Given the description of an element on the screen output the (x, y) to click on. 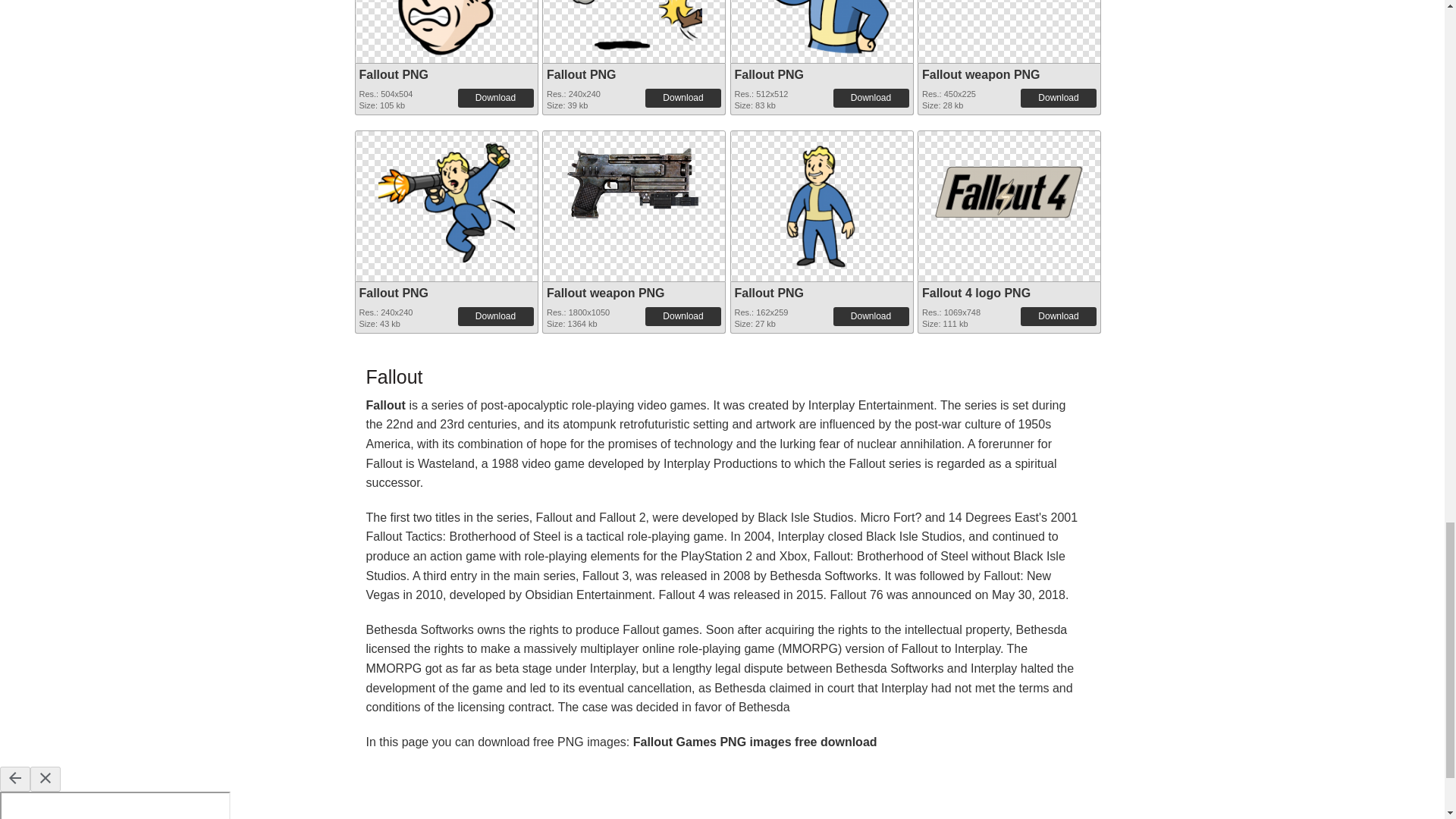
Fallout weapon PNG (981, 74)
Download (1058, 97)
Download (682, 97)
Download (870, 97)
Fallout PNG (394, 74)
Fallout PNG (768, 74)
Fallout PNG (581, 74)
Download (496, 97)
Fallout PNG (821, 28)
Fallout PNG (445, 28)
Fallout PNG (633, 28)
